Given the description of an element on the screen output the (x, y) to click on. 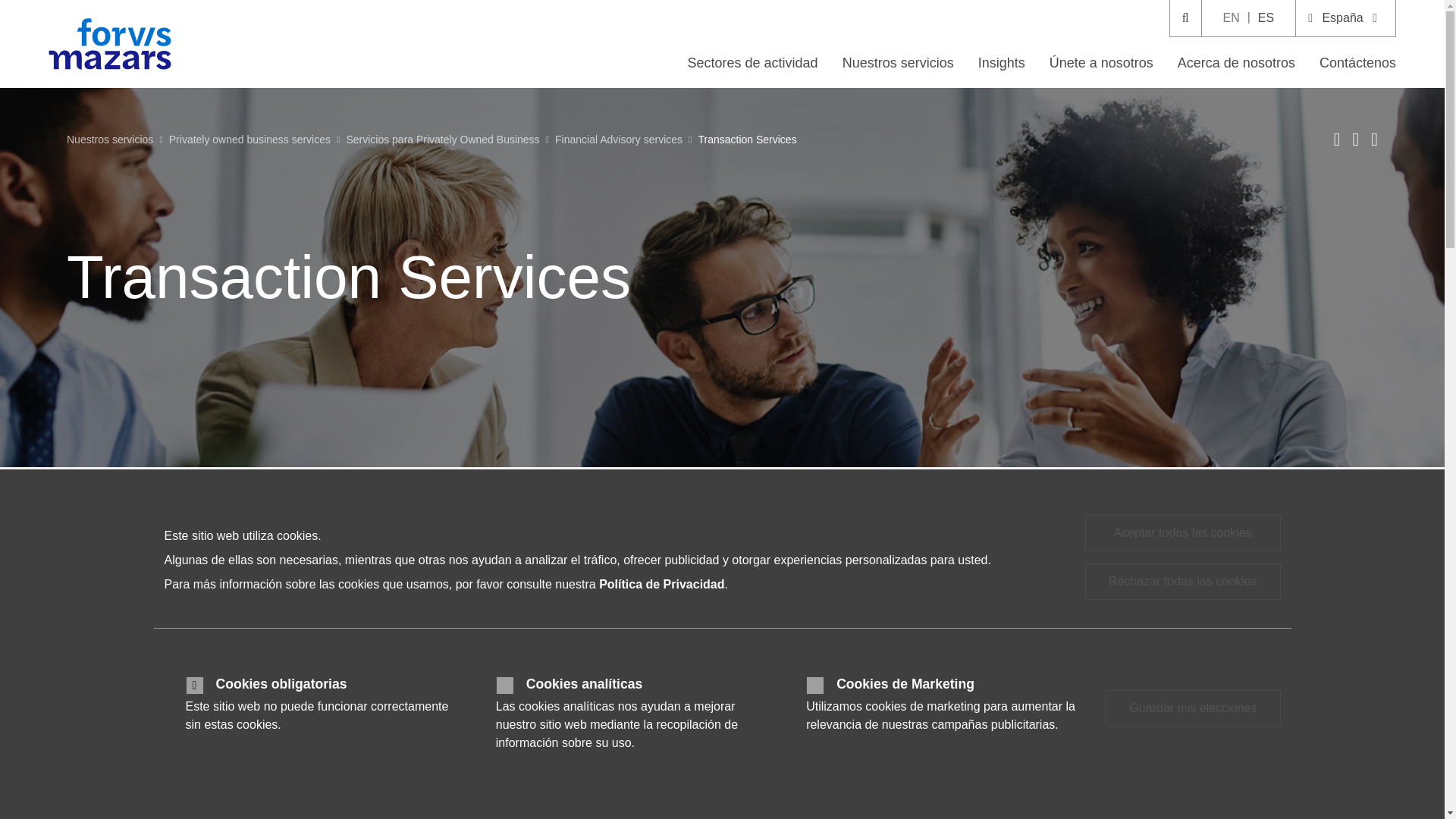
EN (1231, 17)
